Given the description of an element on the screen output the (x, y) to click on. 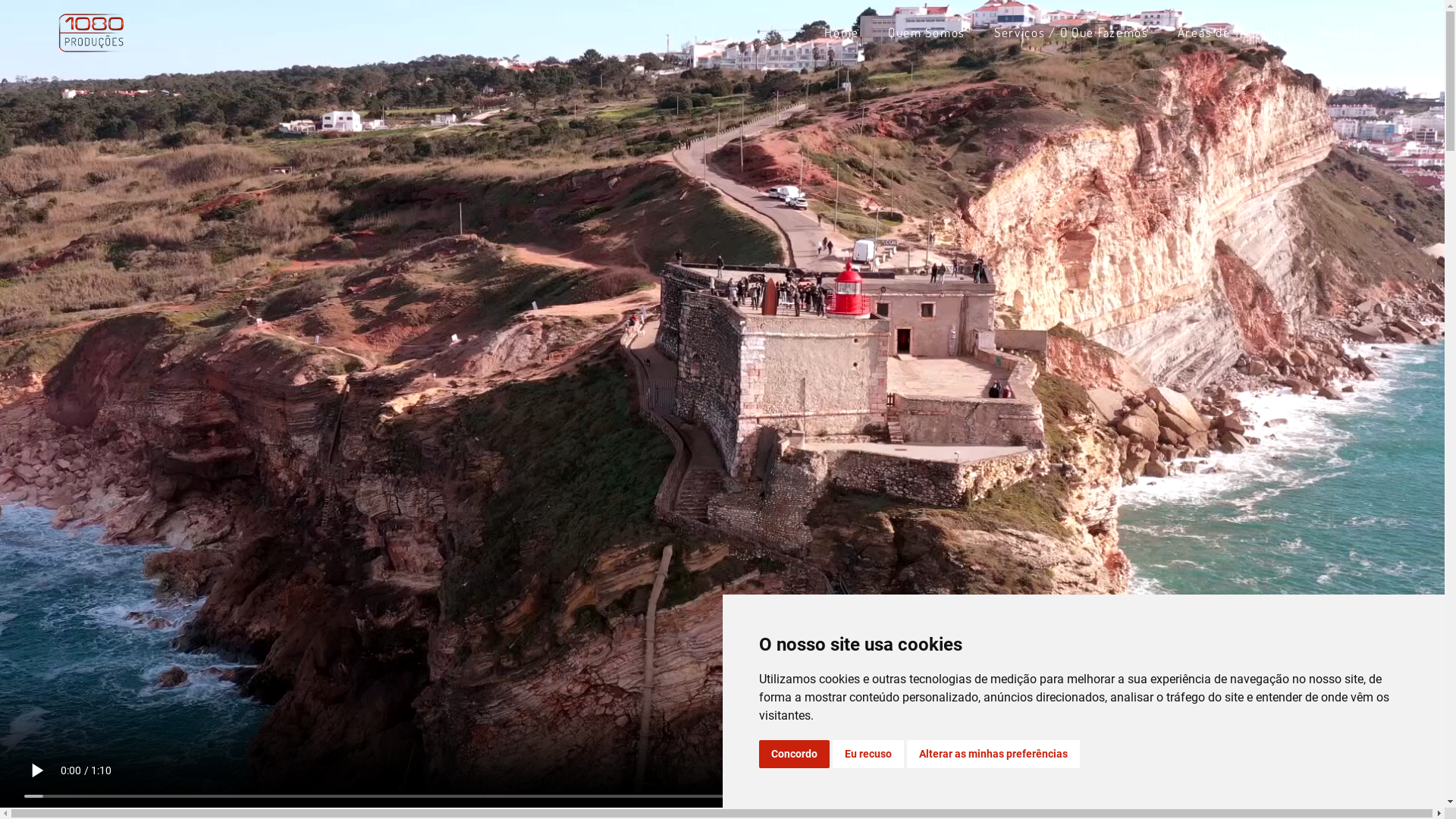
Contactos Element type: text (1344, 32)
Home Element type: text (841, 32)
Quem Somos Element type: text (926, 32)
Eu recuso Element type: text (867, 754)
Concordo Element type: text (793, 754)
